Given the description of an element on the screen output the (x, y) to click on. 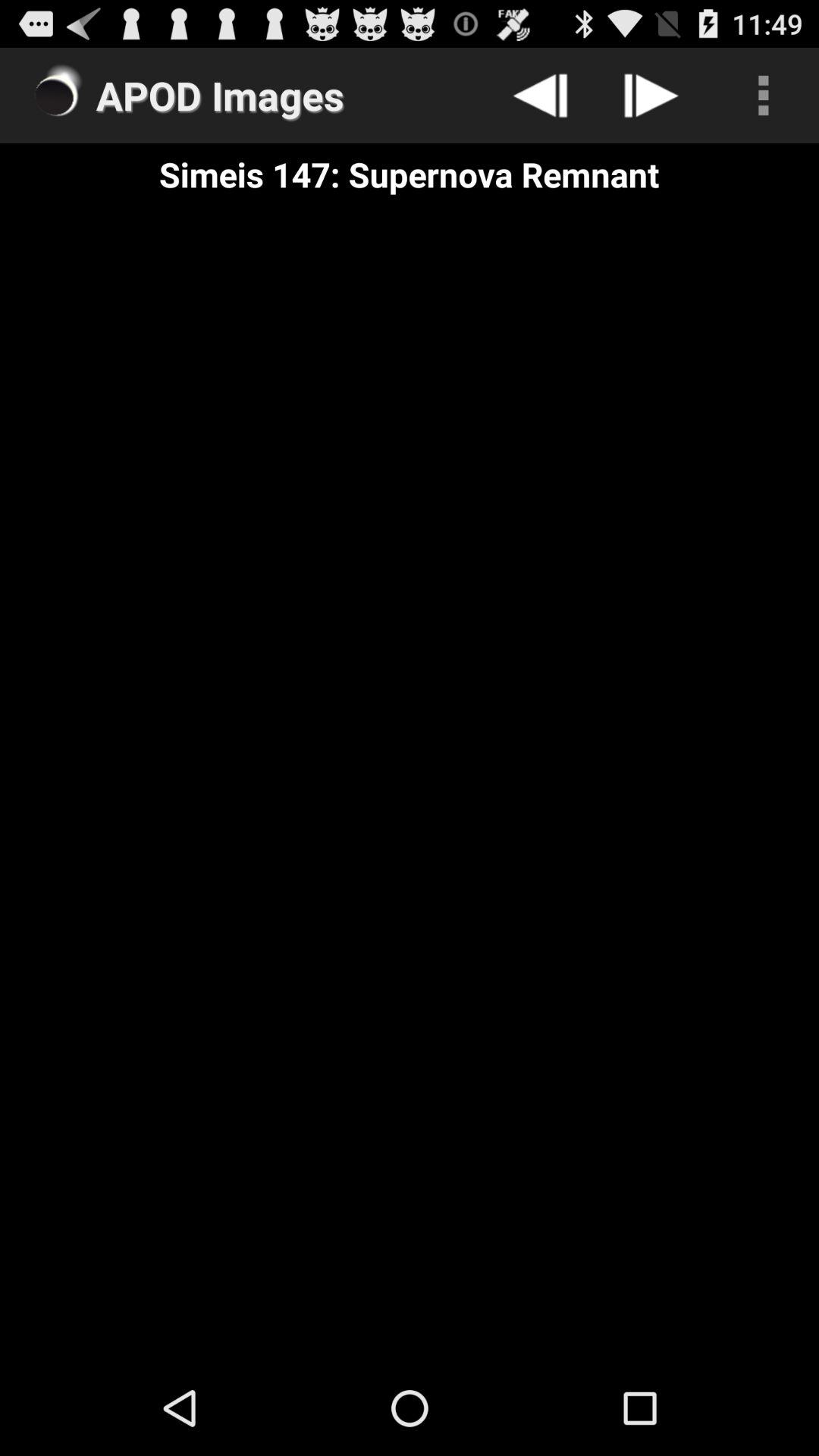
click on the next button (651, 95)
